Given the description of an element on the screen output the (x, y) to click on. 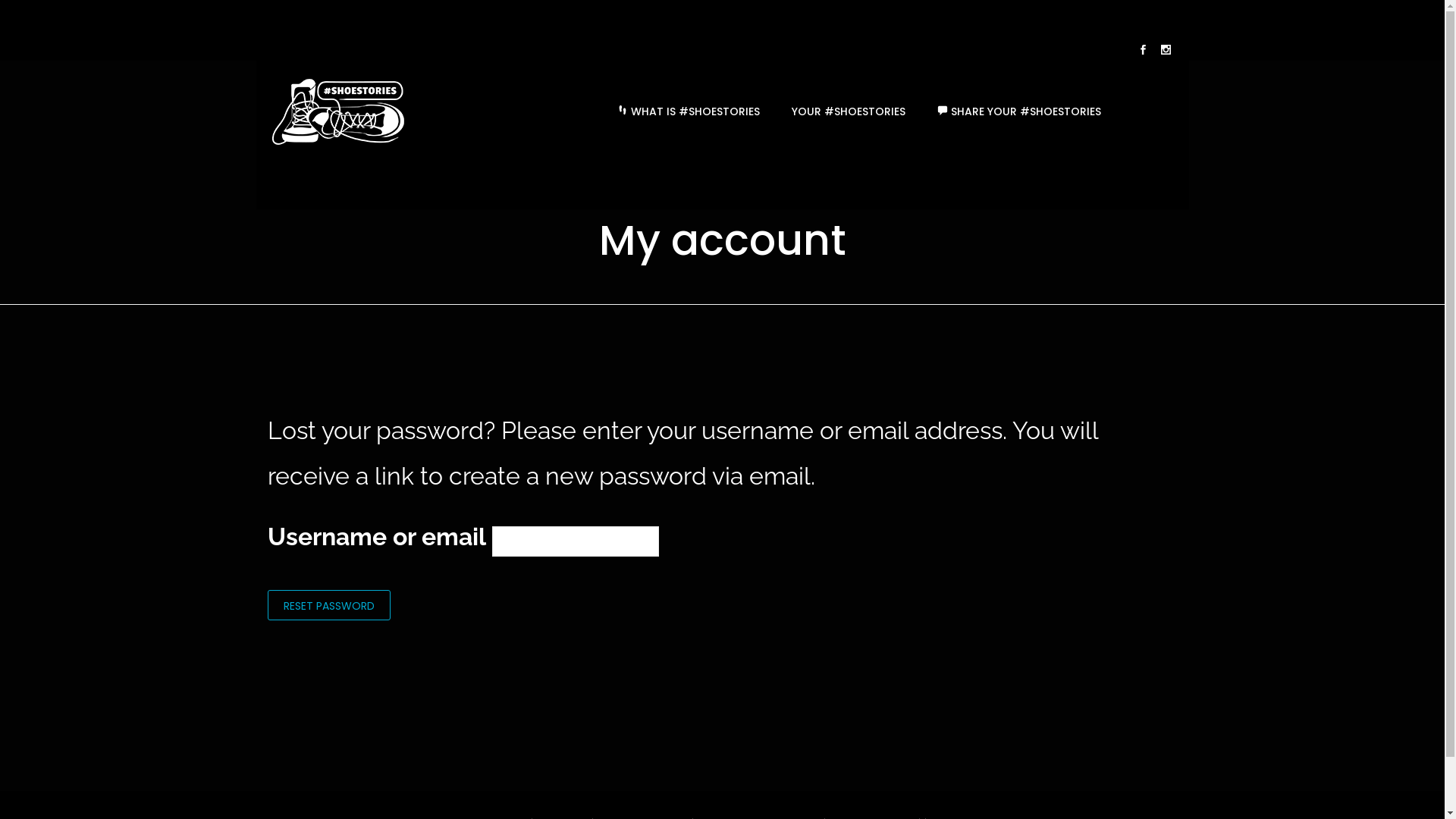
WHAT IS #SHOESTORIES Element type: text (687, 111)
Instagram Element type: hover (1165, 51)
Facebook Element type: hover (1142, 51)
RESET PASSWORD Element type: text (327, 604)
SHARE YOUR #SHOESTORIES Element type: text (1018, 111)
YOUR #SHOESTORIES Element type: text (847, 111)
